Given the description of an element on the screen output the (x, y) to click on. 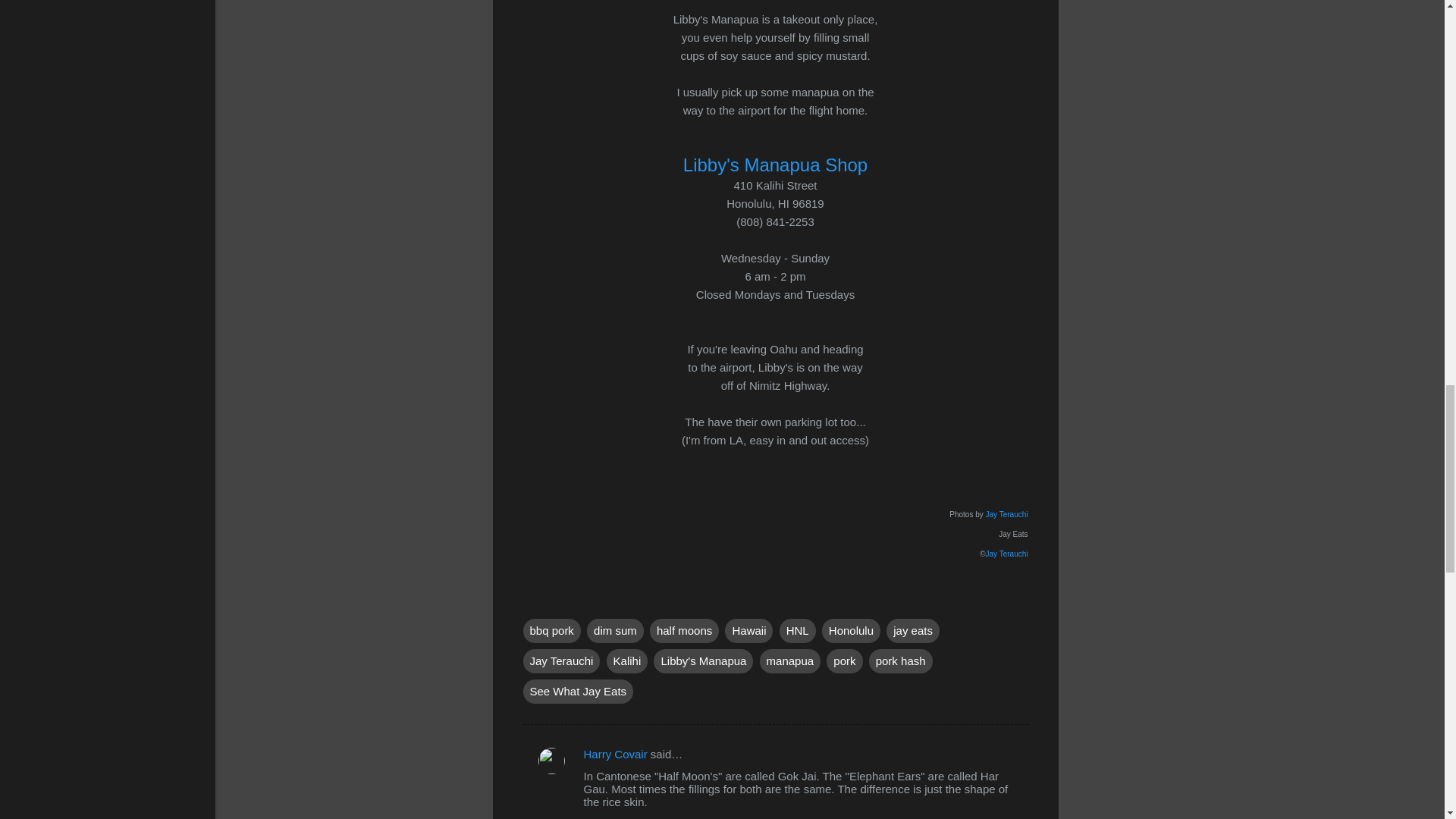
Hawaii (749, 630)
Jay Terauchi (560, 661)
pork (844, 661)
Libby's Manapua Shop (774, 164)
Kalihi (627, 661)
half moons (684, 630)
Jay Terauchi (1006, 552)
See What Jay Eats (577, 691)
dim sum (614, 630)
Honolulu (851, 630)
Jay Terauchi (1006, 513)
comment permalink (656, 818)
HNL (796, 630)
Harry Covair (615, 753)
Libby's Manapua (702, 661)
